Given the description of an element on the screen output the (x, y) to click on. 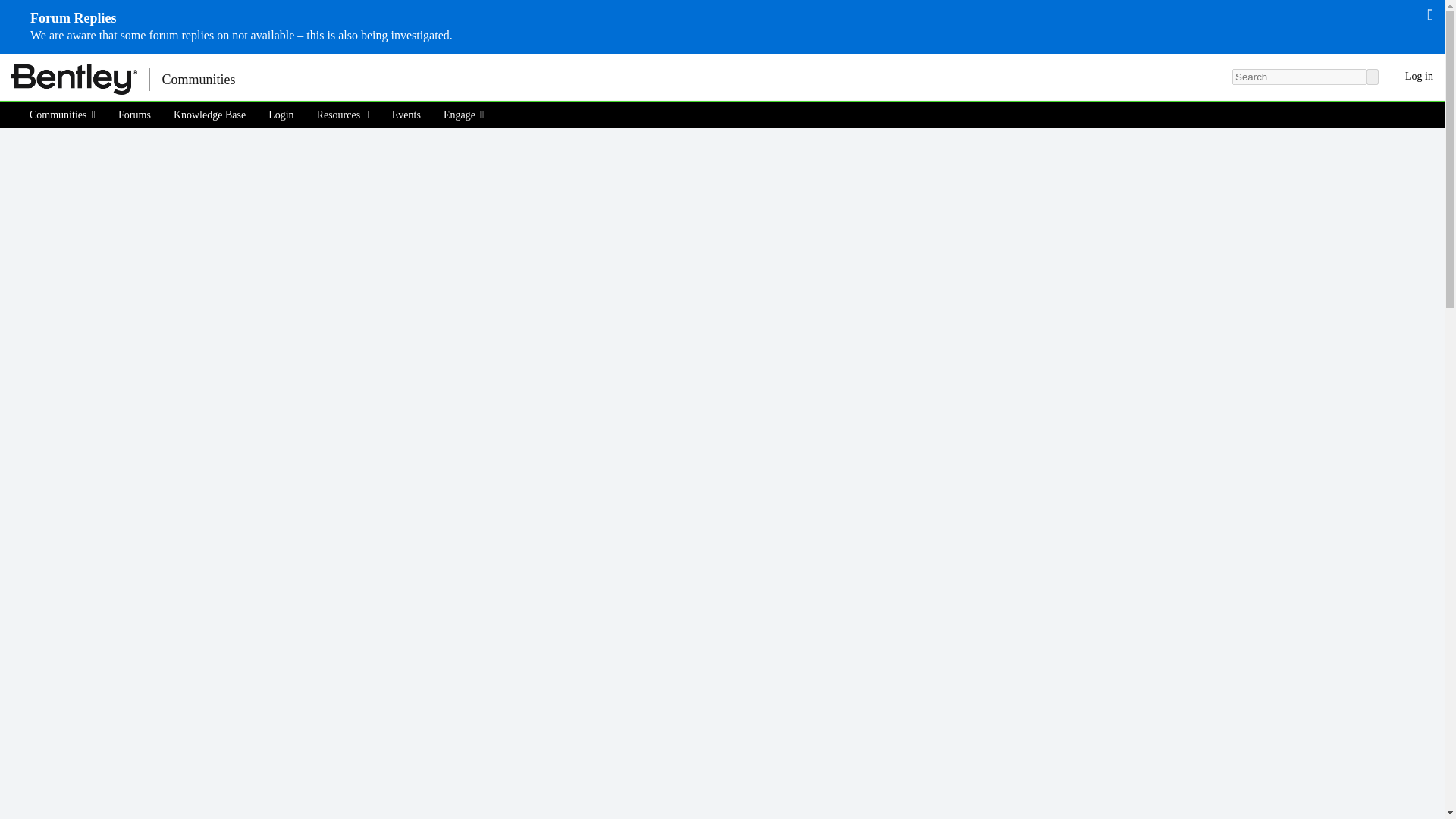
Engage (464, 114)
Forums (133, 114)
Events (406, 114)
Dismiss announcement Forum Replies (1430, 14)
Toggle navigation (273, 79)
Communities (67, 114)
Login (280, 114)
Resources (342, 114)
Skip to main content (8, 63)
Communities (197, 79)
Knowledge Base (209, 114)
